Given the description of an element on the screen output the (x, y) to click on. 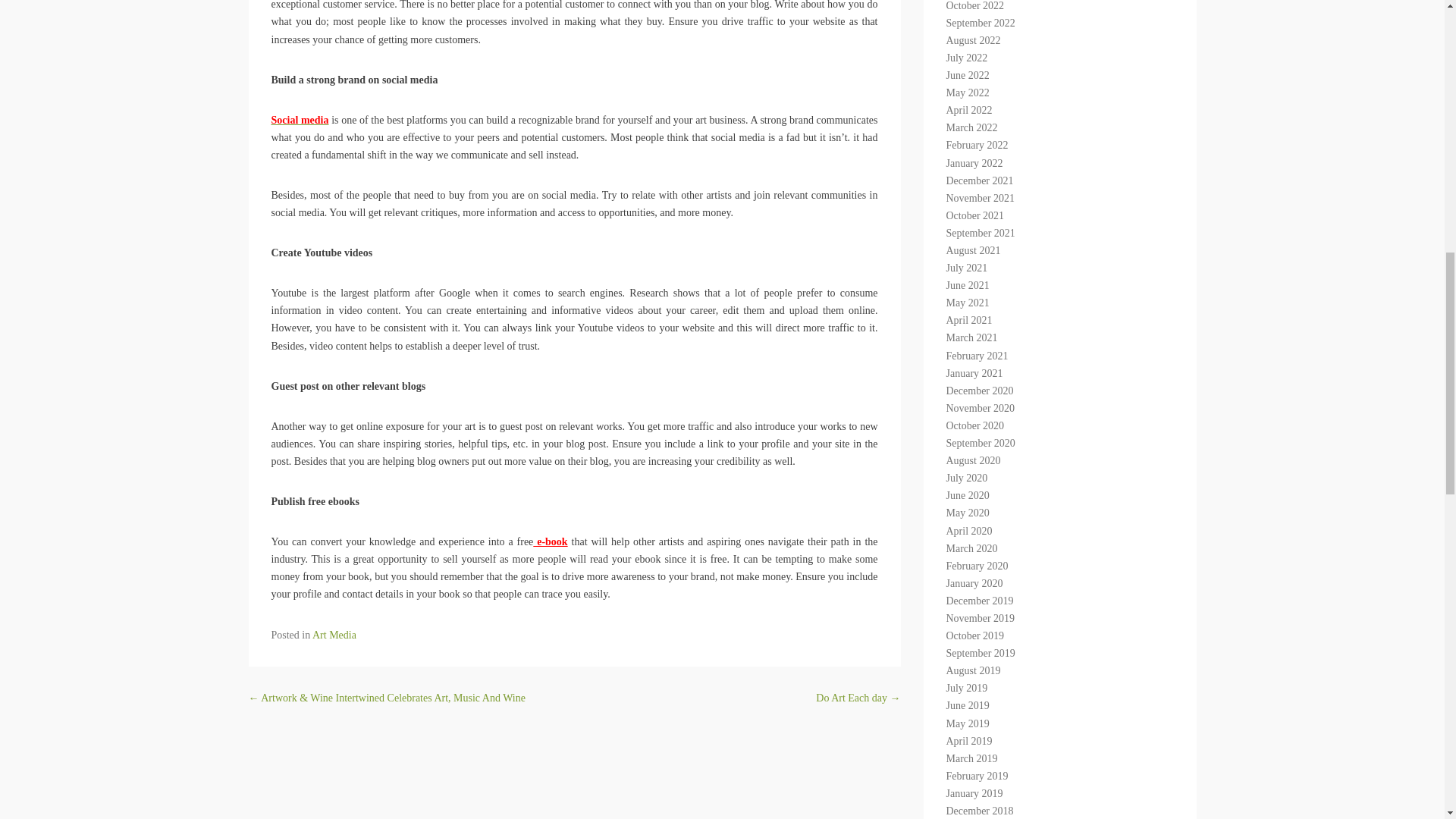
Art Media (334, 634)
Social media (299, 120)
e-book (549, 541)
